Given the description of an element on the screen output the (x, y) to click on. 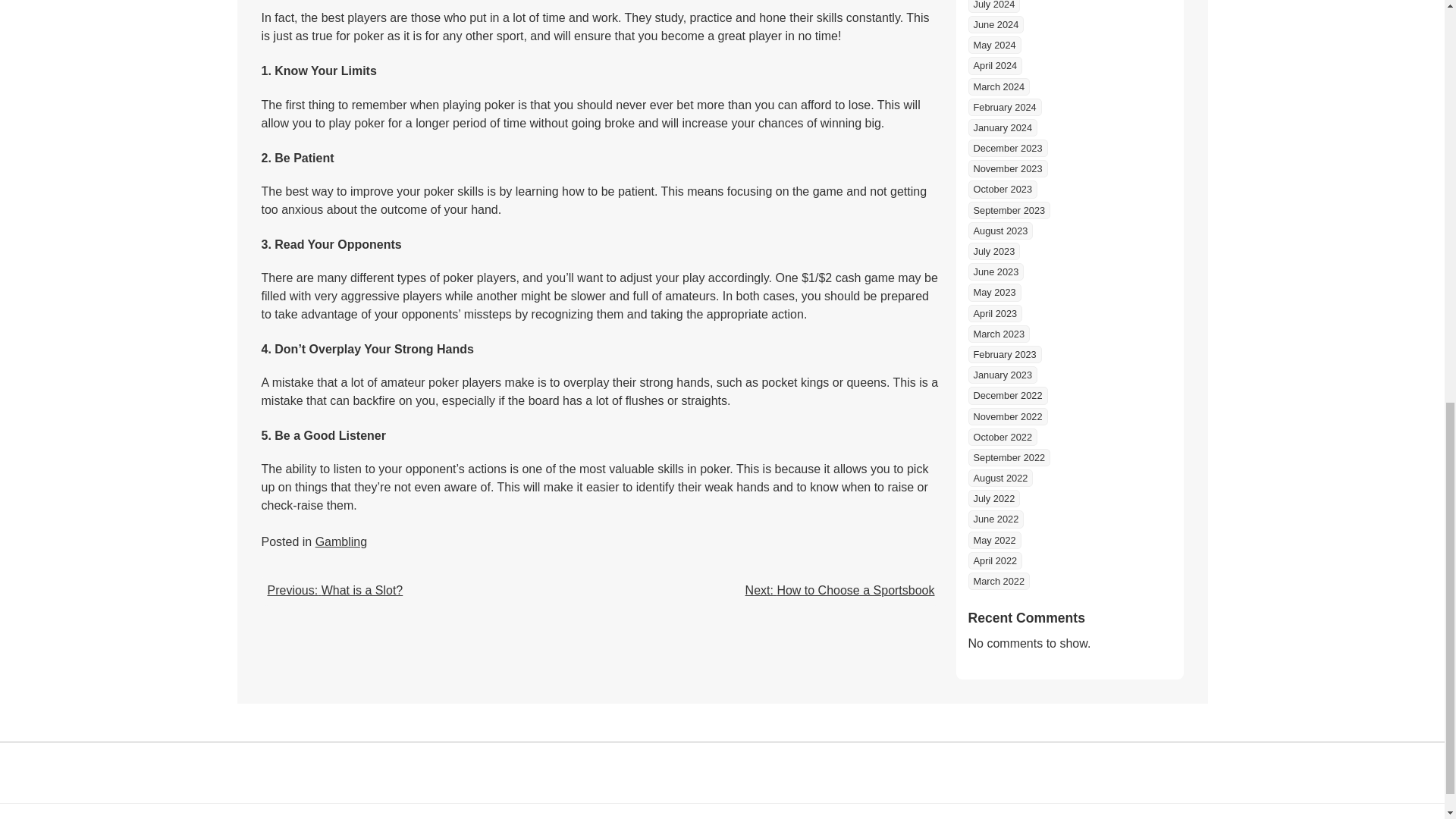
January 2024 (1002, 127)
December 2023 (1007, 148)
October 2023 (1002, 189)
Next: How to Choose a Sportsbook (839, 590)
September 2023 (1008, 210)
November 2023 (1007, 168)
April 2024 (995, 65)
July 2024 (994, 6)
July 2023 (994, 251)
Gambling (340, 541)
April 2023 (995, 313)
May 2024 (994, 45)
March 2023 (998, 334)
May 2023 (994, 292)
February 2023 (1004, 354)
